Given the description of an element on the screen output the (x, y) to click on. 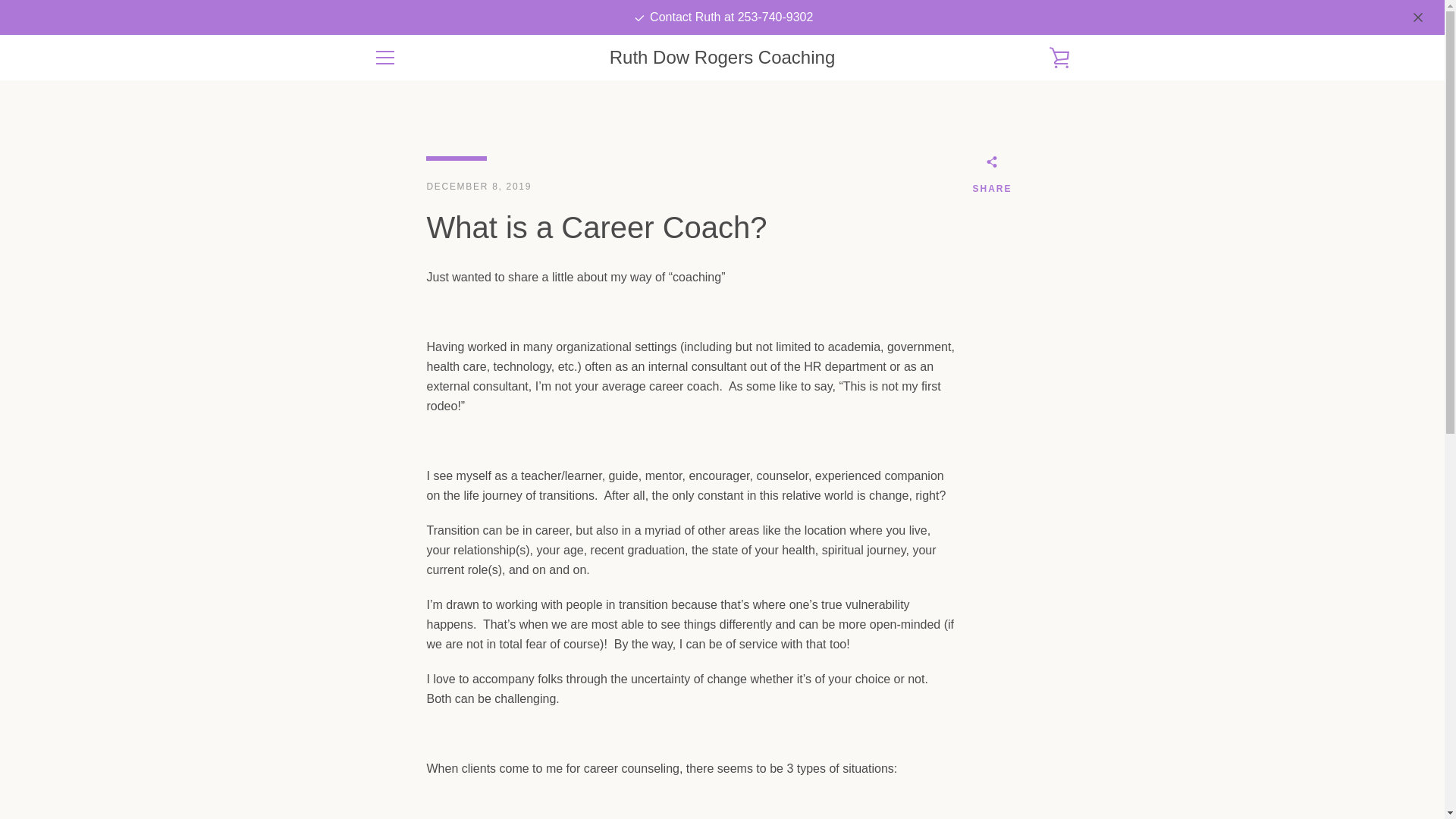
SHARE (991, 177)
MENU (384, 57)
Ruth Dow Rogers Coaching (722, 57)
VIEW CART (1059, 57)
